Given the description of an element on the screen output the (x, y) to click on. 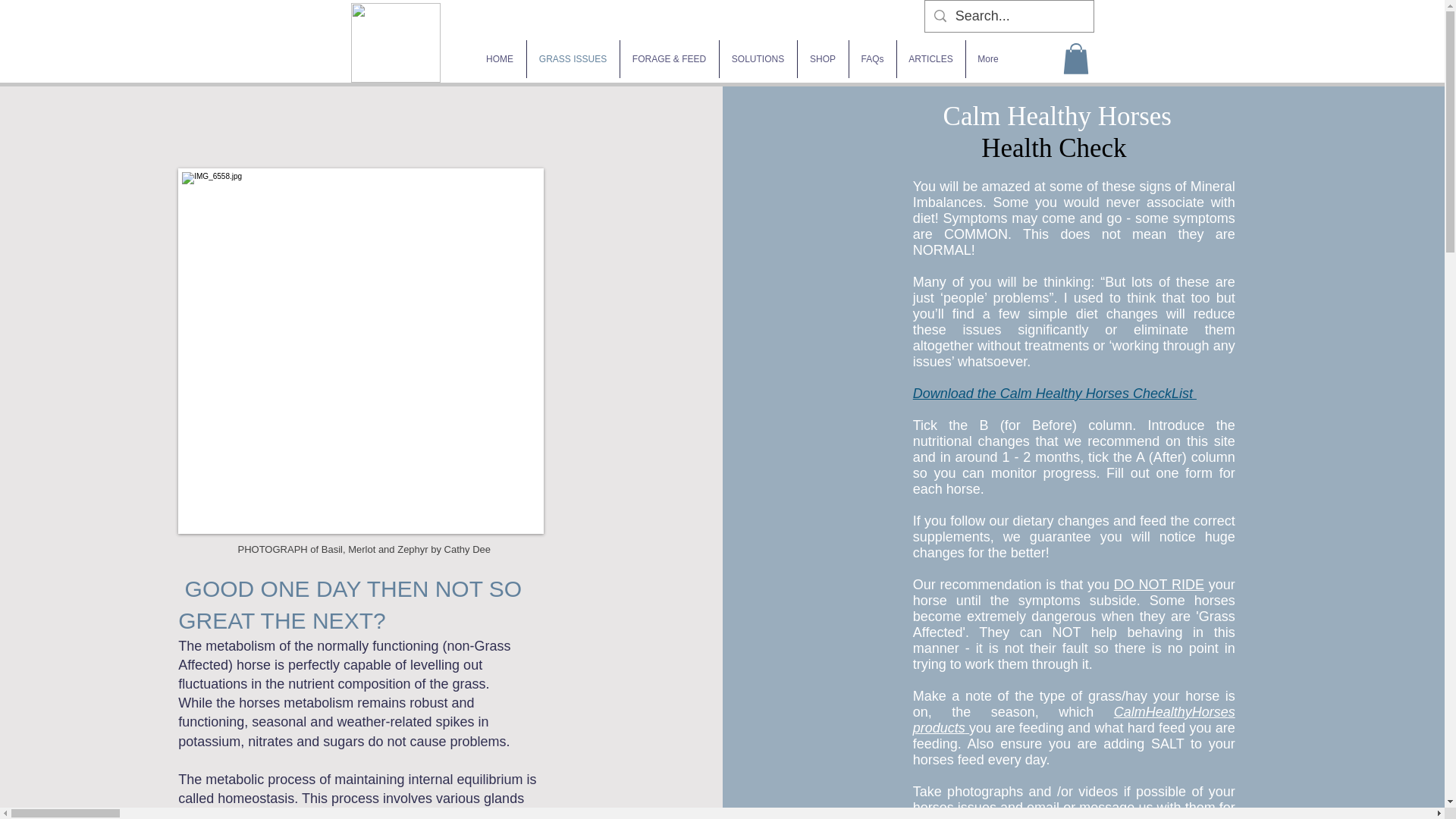
HOME (499, 58)
SOLUTIONS (757, 58)
GRASS ISSUES (571, 58)
